Given the description of an element on the screen output the (x, y) to click on. 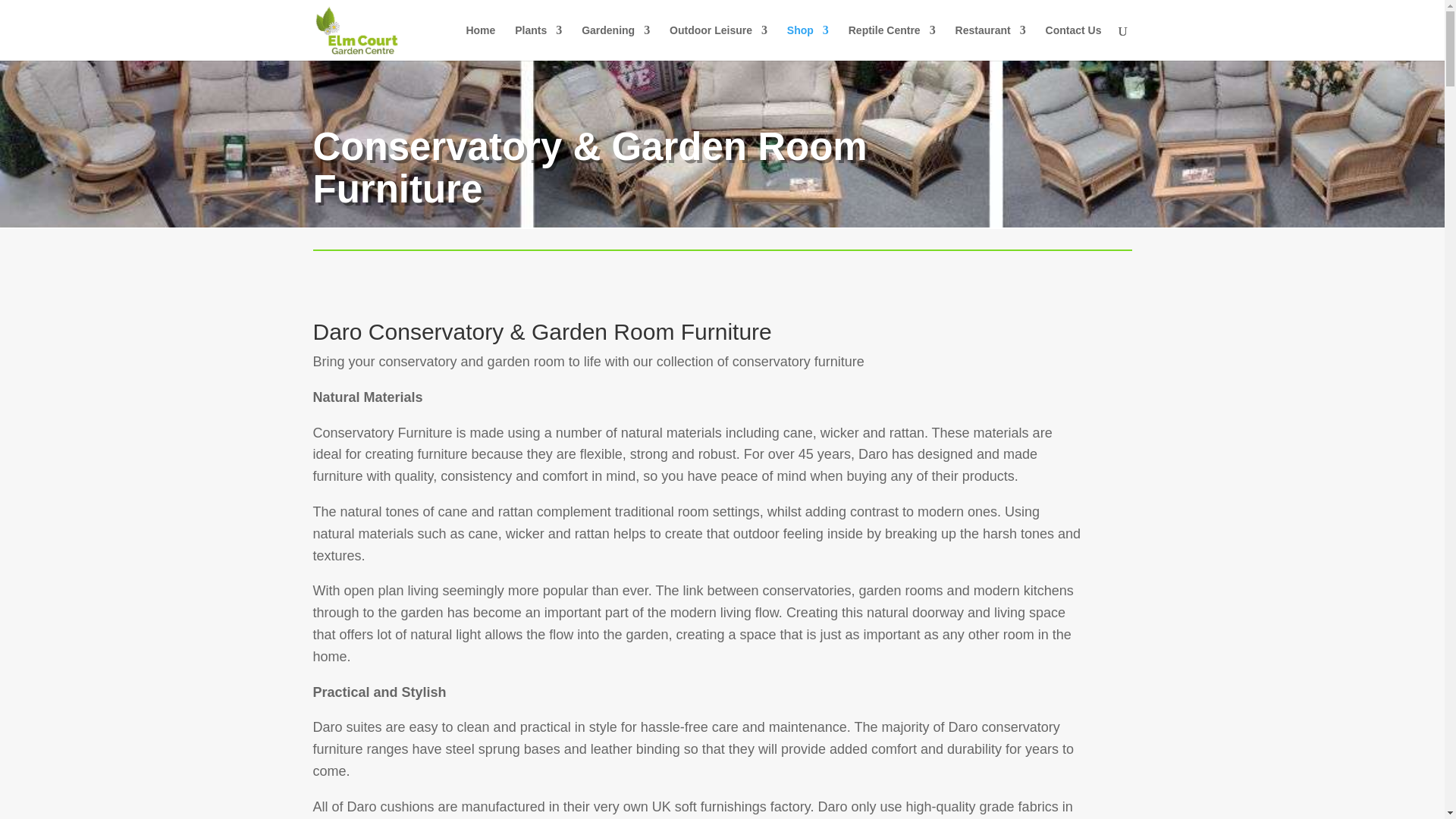
Outdoor Leisure (718, 42)
Gardening (614, 42)
Plants (538, 42)
